Given the description of an element on the screen output the (x, y) to click on. 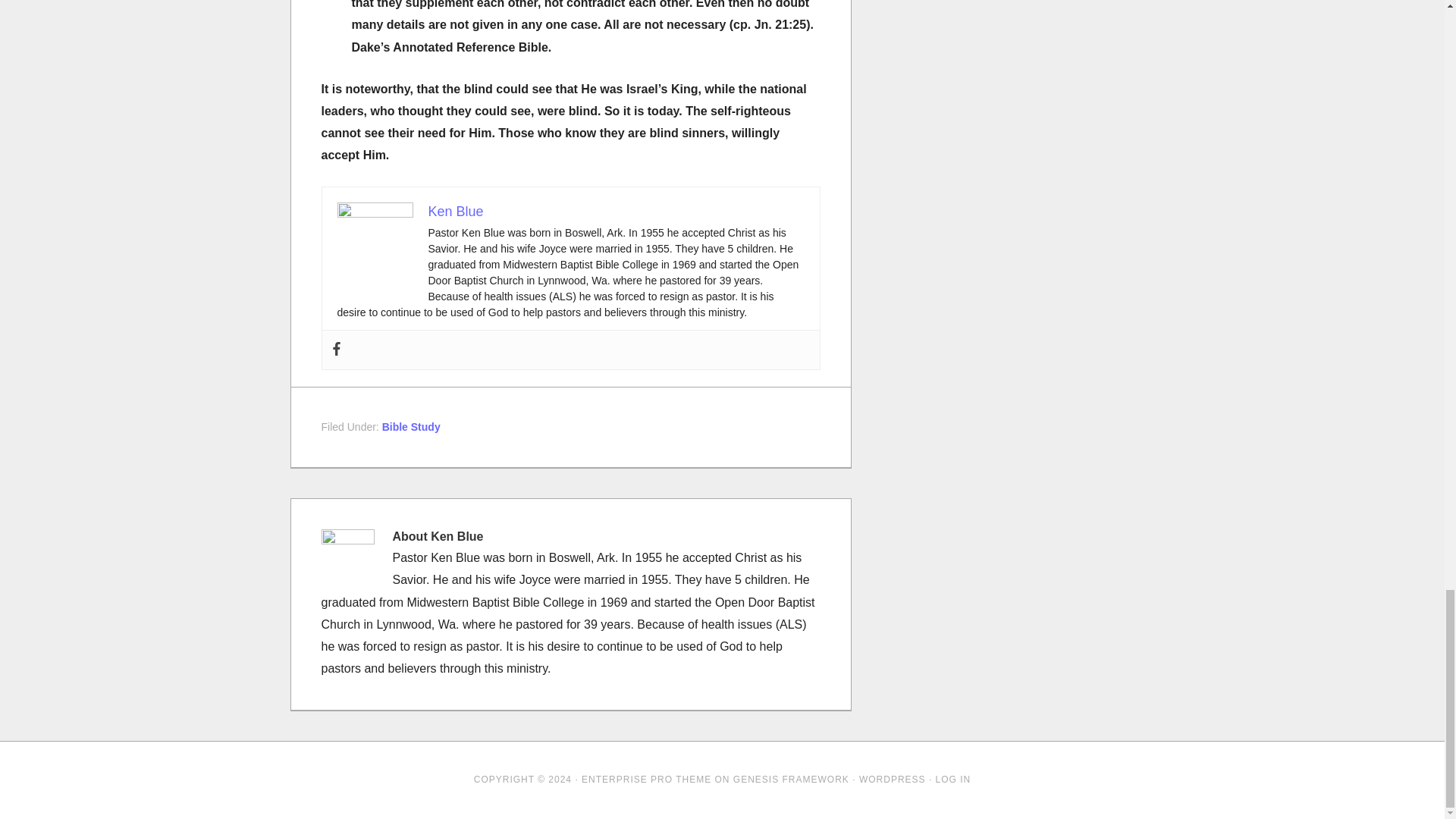
Bible Study (411, 426)
Ken Blue (455, 211)
